Given the description of an element on the screen output the (x, y) to click on. 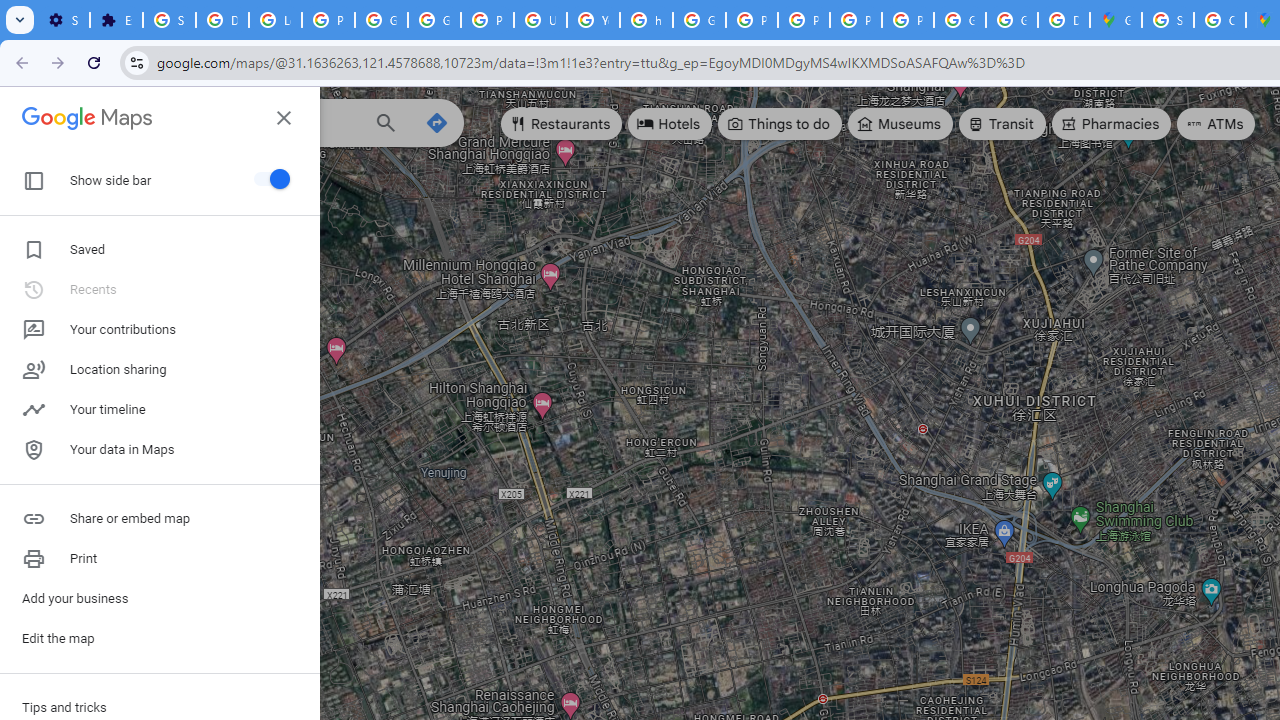
https://scholar.google.com/ (646, 20)
ATMs (1216, 124)
Privacy Help Center - Policies Help (751, 20)
Sign in - Google Accounts (1167, 20)
Restaurants (561, 124)
Settings - On startup (63, 20)
Edit the map (159, 638)
Your contributions (159, 330)
Museums (900, 124)
Sign in - Google Accounts (169, 20)
